Given the description of an element on the screen output the (x, y) to click on. 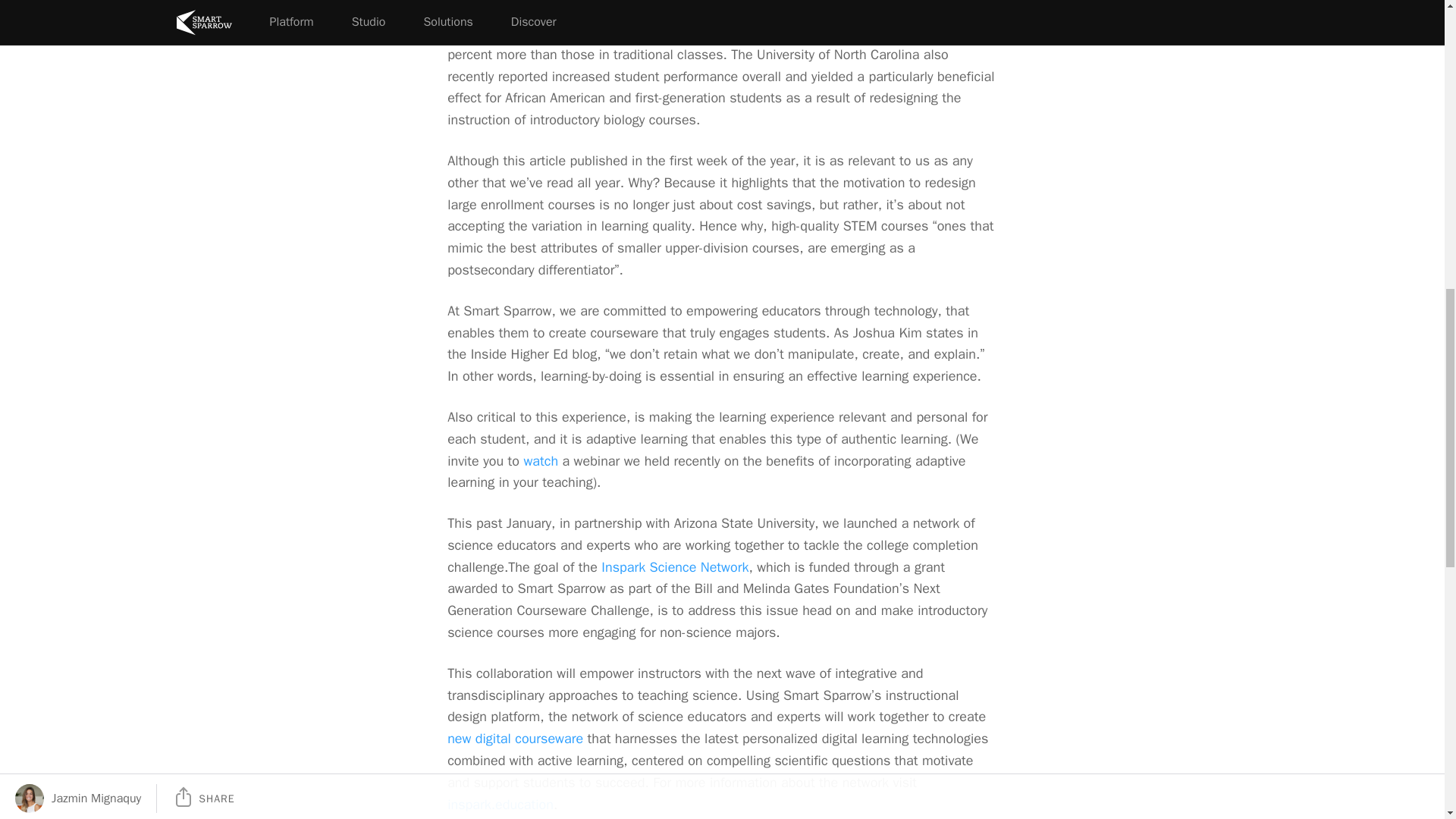
Inspark Science Network (674, 567)
inspark.education (499, 805)
watch (539, 460)
new digital courseware (514, 738)
